Given the description of an element on the screen output the (x, y) to click on. 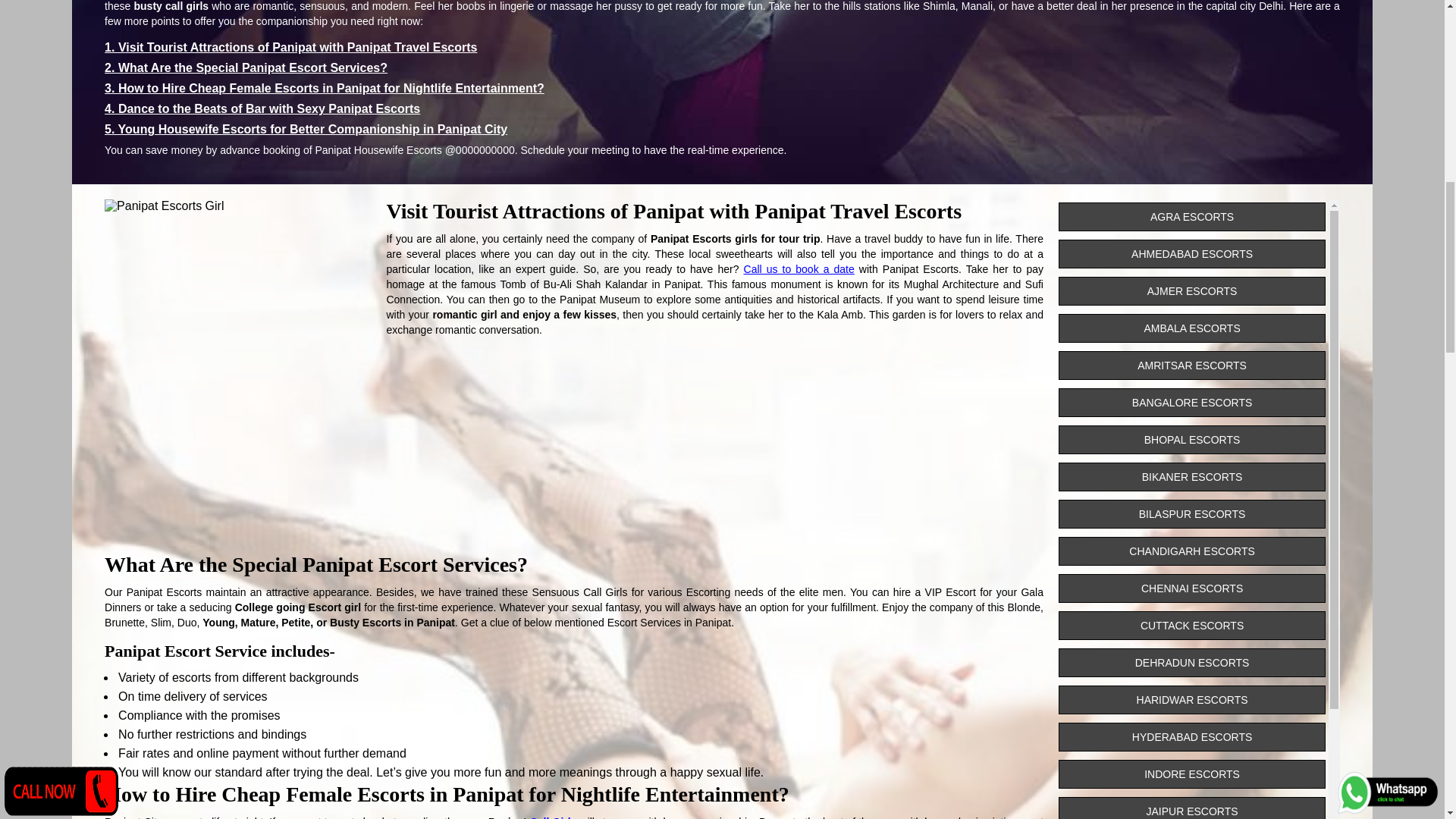
Escorts in Bhopal (1191, 439)
4. Dance to the Beats of Bar with Sexy Panipat Escorts (262, 108)
Escorts in Ajmer (1191, 290)
CHANDIGARH ESCORTS (1191, 551)
Escorts in Ambala (1191, 328)
Call us to book a date (799, 268)
AJMER ESCORTS (1191, 290)
AHMEDABAD ESCORTS (1191, 253)
DEHRADUN ESCORTS (1191, 662)
BIKANER ESCORTS (1191, 476)
AMBALA ESCORTS (1191, 328)
Escorts in Amritsar (1191, 365)
Escorts in Agra (1191, 216)
BHOPAL ESCORTS (1191, 439)
Escorts in Bangalore (1191, 402)
